Given the description of an element on the screen output the (x, y) to click on. 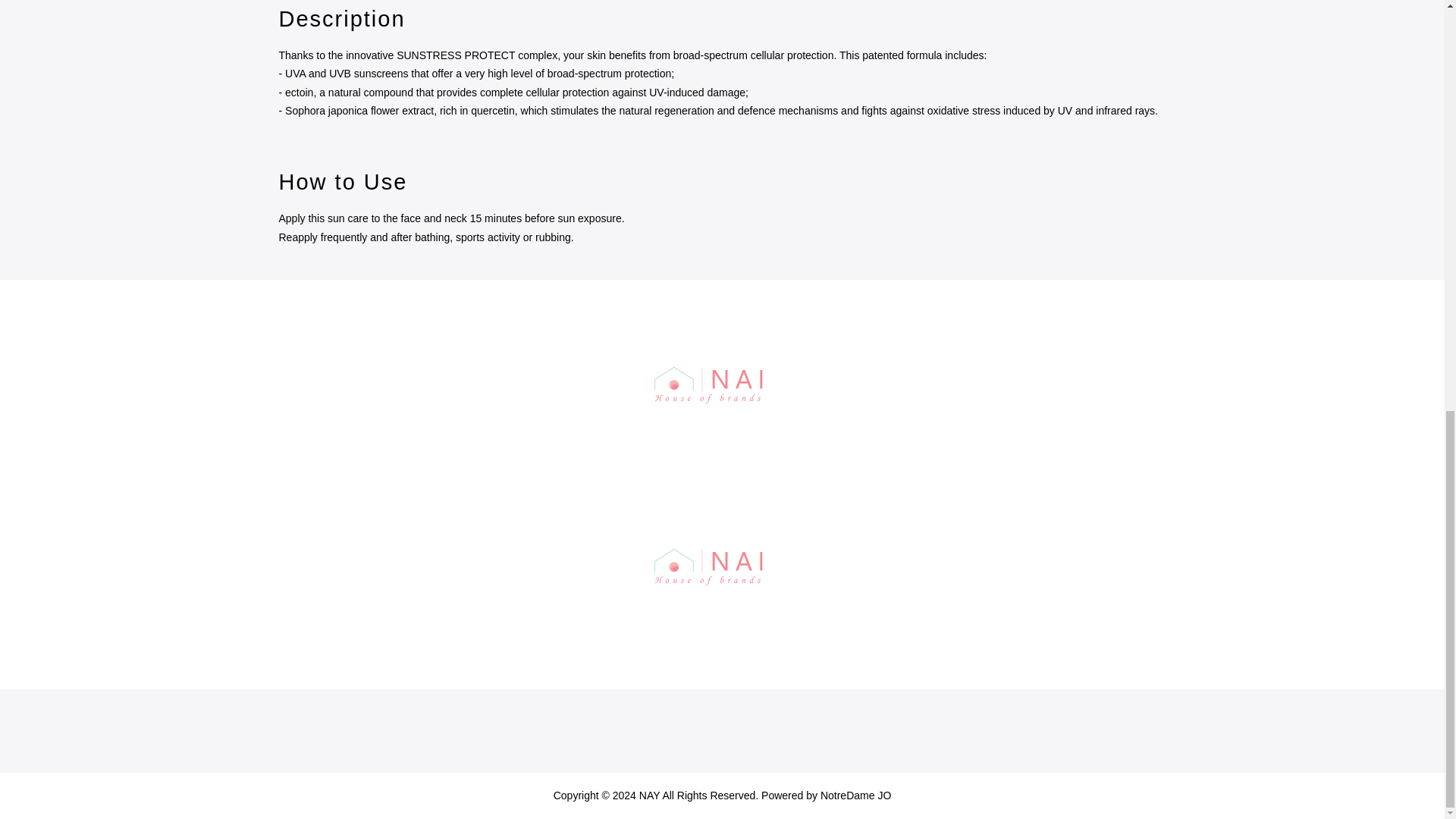
NotreDame JO (856, 794)
